Given the description of an element on the screen output the (x, y) to click on. 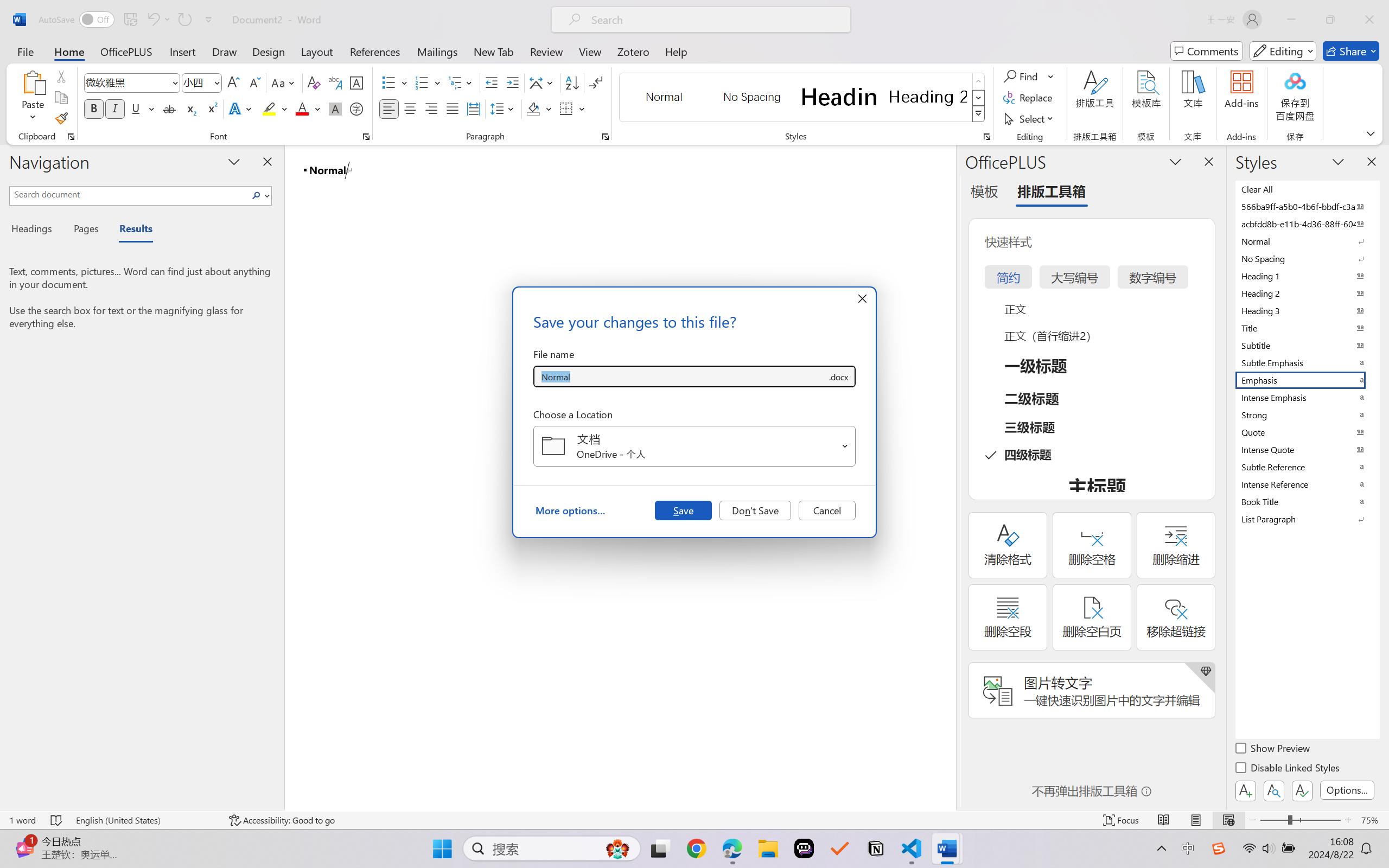
Character Shading (334, 108)
Share (1350, 51)
Spelling and Grammar Check No Errors (56, 819)
Bold (94, 108)
Font Size (196, 82)
AutoSave (76, 19)
Styles (978, 113)
Class: NetUIImage (978, 114)
Normal (1306, 240)
Text Highlight Color (274, 108)
